Given the description of an element on the screen output the (x, y) to click on. 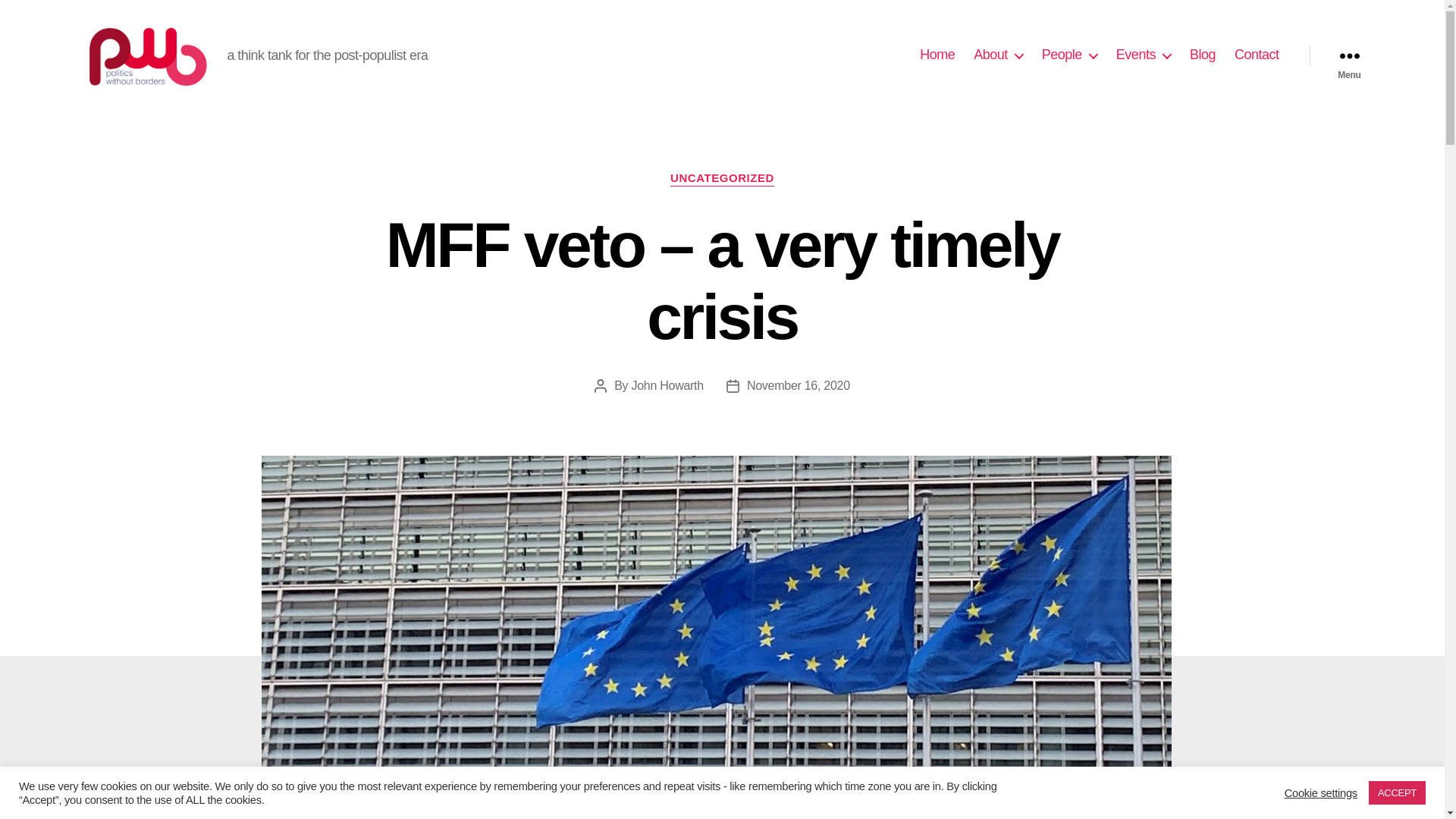
Home (937, 54)
People (1069, 54)
Contact (1256, 54)
Events (1143, 54)
Blog (1202, 54)
Menu (1348, 55)
About (998, 54)
